Given the description of an element on the screen output the (x, y) to click on. 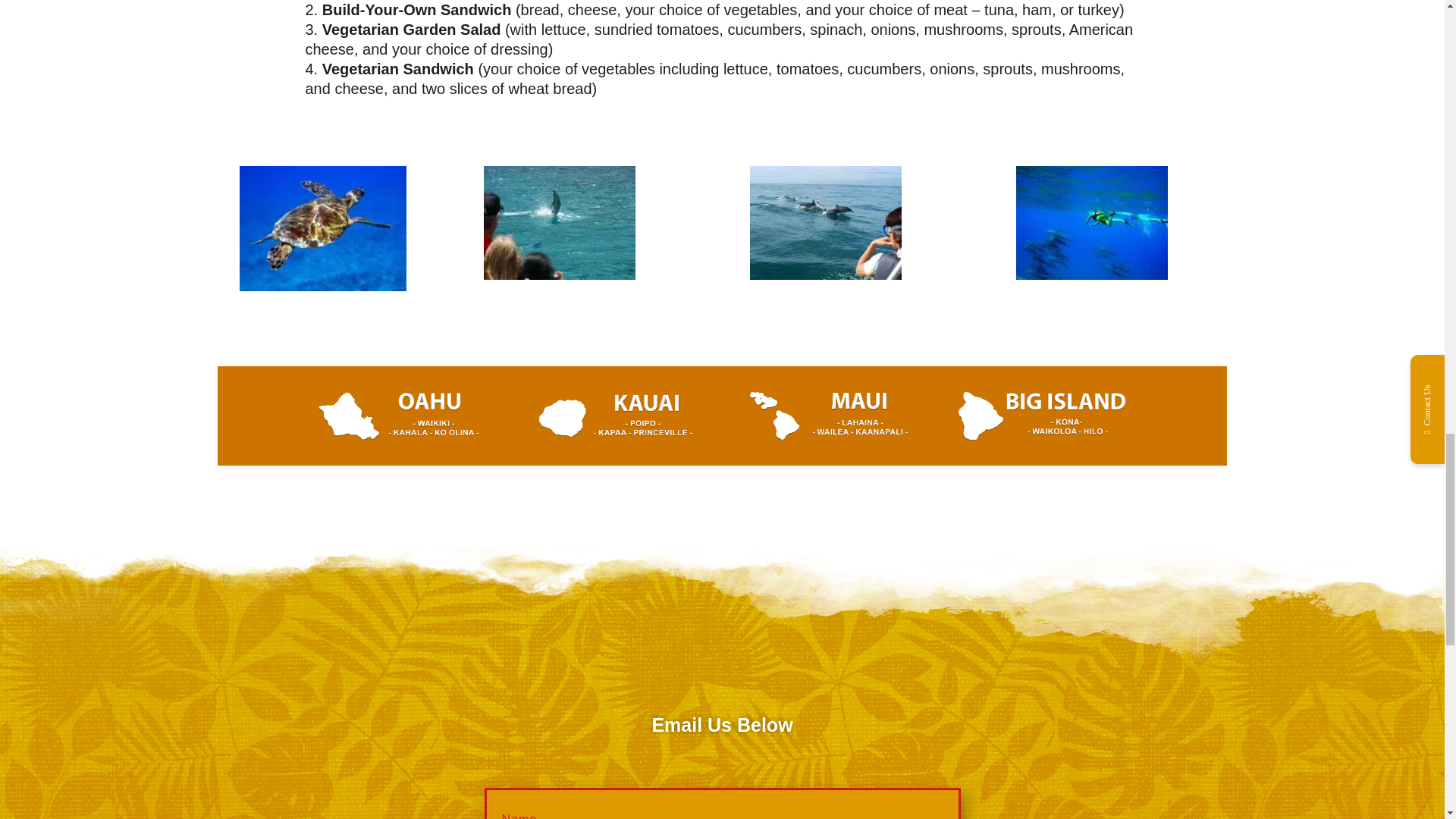
maui (828, 434)
oahu (402, 434)
big-island (1041, 434)
6544jige (323, 285)
dolphin-jump (558, 274)
kauai (615, 434)
